Given the description of an element on the screen output the (x, y) to click on. 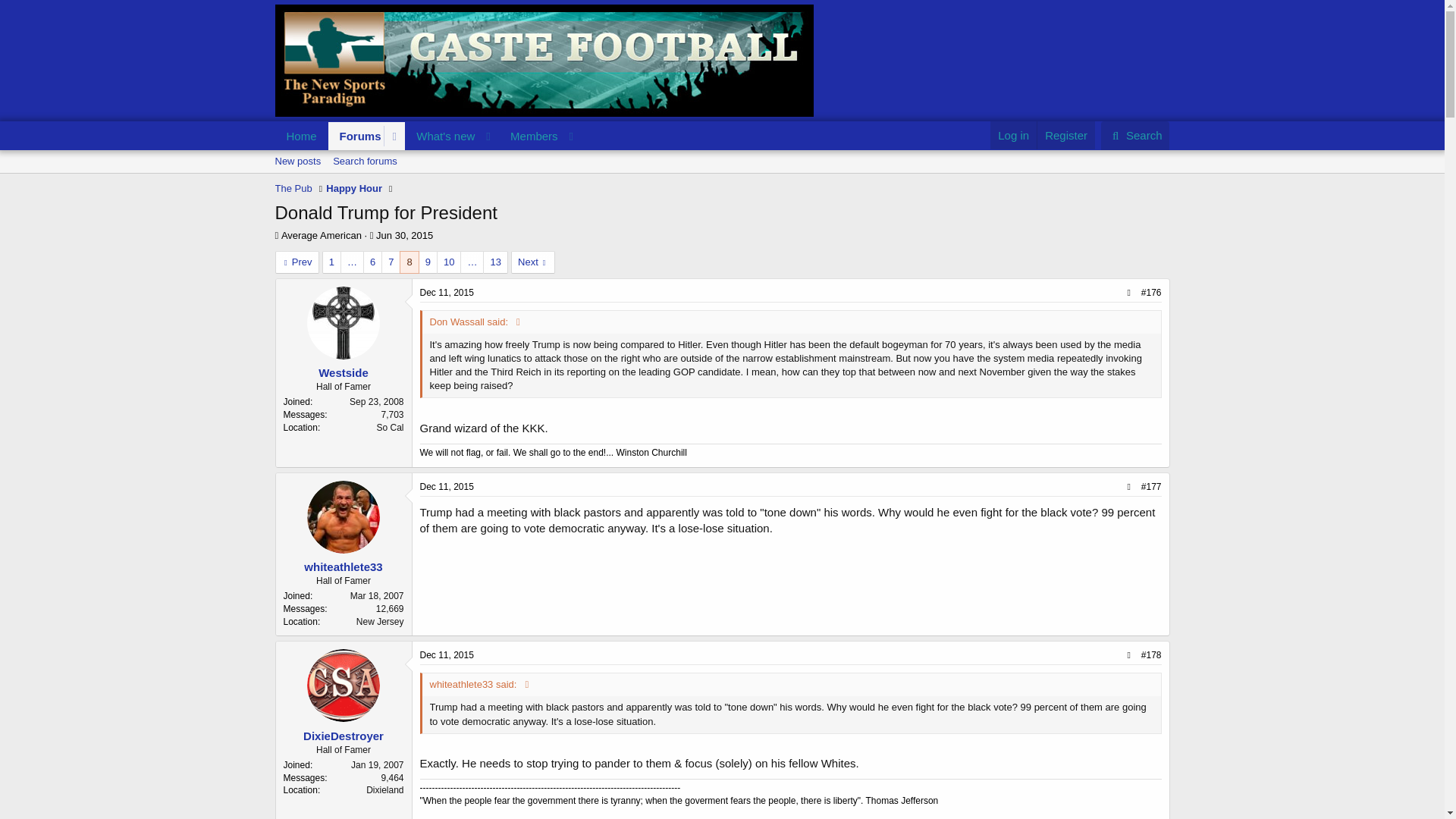
Search forums (364, 160)
Log in (1013, 135)
New posts (296, 160)
Jun 30, 2015 (720, 178)
Dec 11, 2015 at 4:33 PM (403, 235)
Average American (447, 486)
Forums (427, 153)
Register (321, 235)
Dec 11, 2015 at 2:43 PM (356, 135)
What's new (1065, 135)
Search (447, 292)
Prev (440, 135)
